Given the description of an element on the screen output the (x, y) to click on. 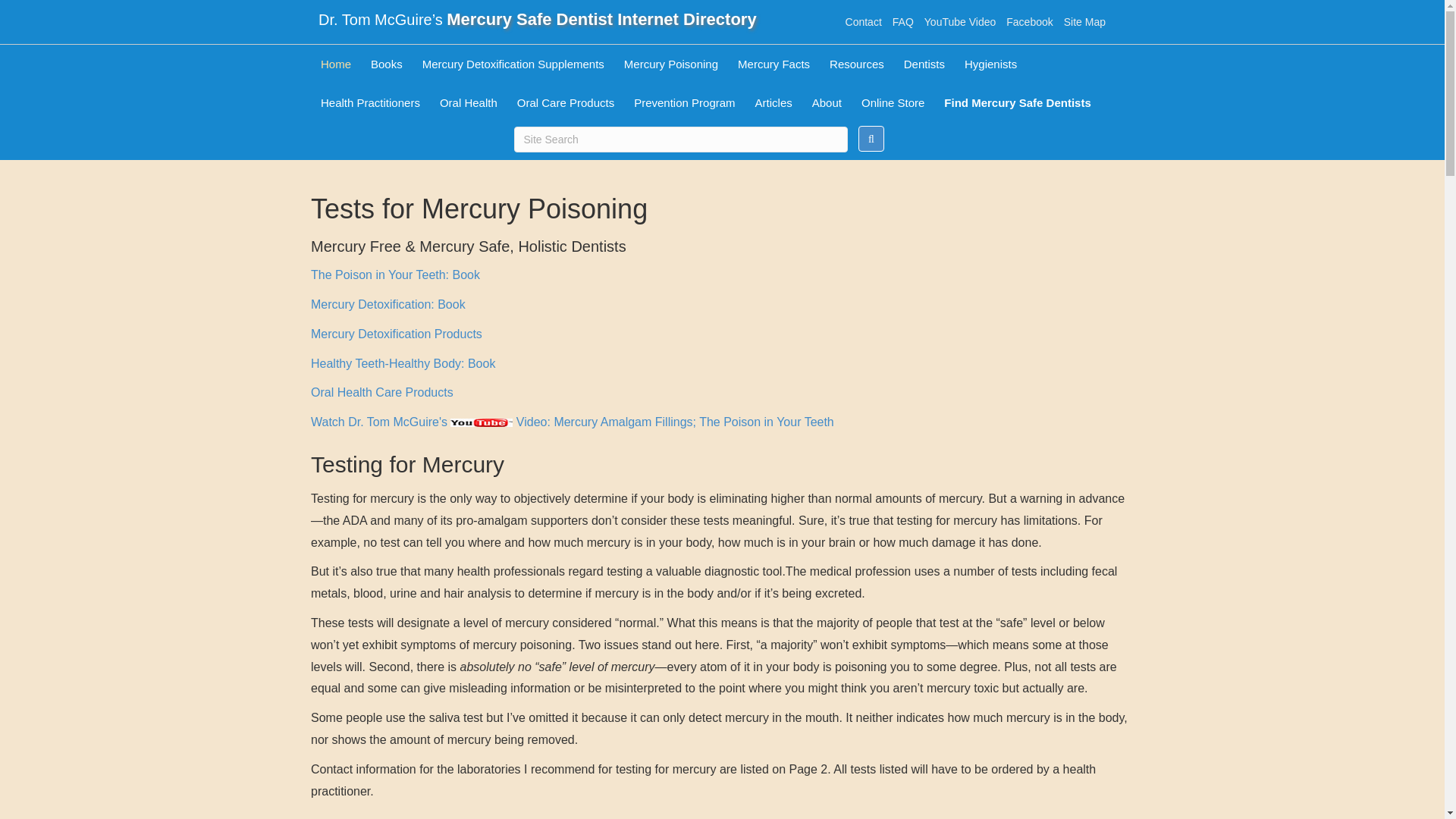
Mercury Detoxification Supplements (513, 64)
Books (386, 64)
FAQ (902, 21)
Site Map (1084, 21)
Mercury Facts (773, 64)
Facebook (1029, 21)
Mercury Poisoning (671, 64)
Home (336, 64)
Resources (856, 64)
YouTube Video (959, 21)
